Given the description of an element on the screen output the (x, y) to click on. 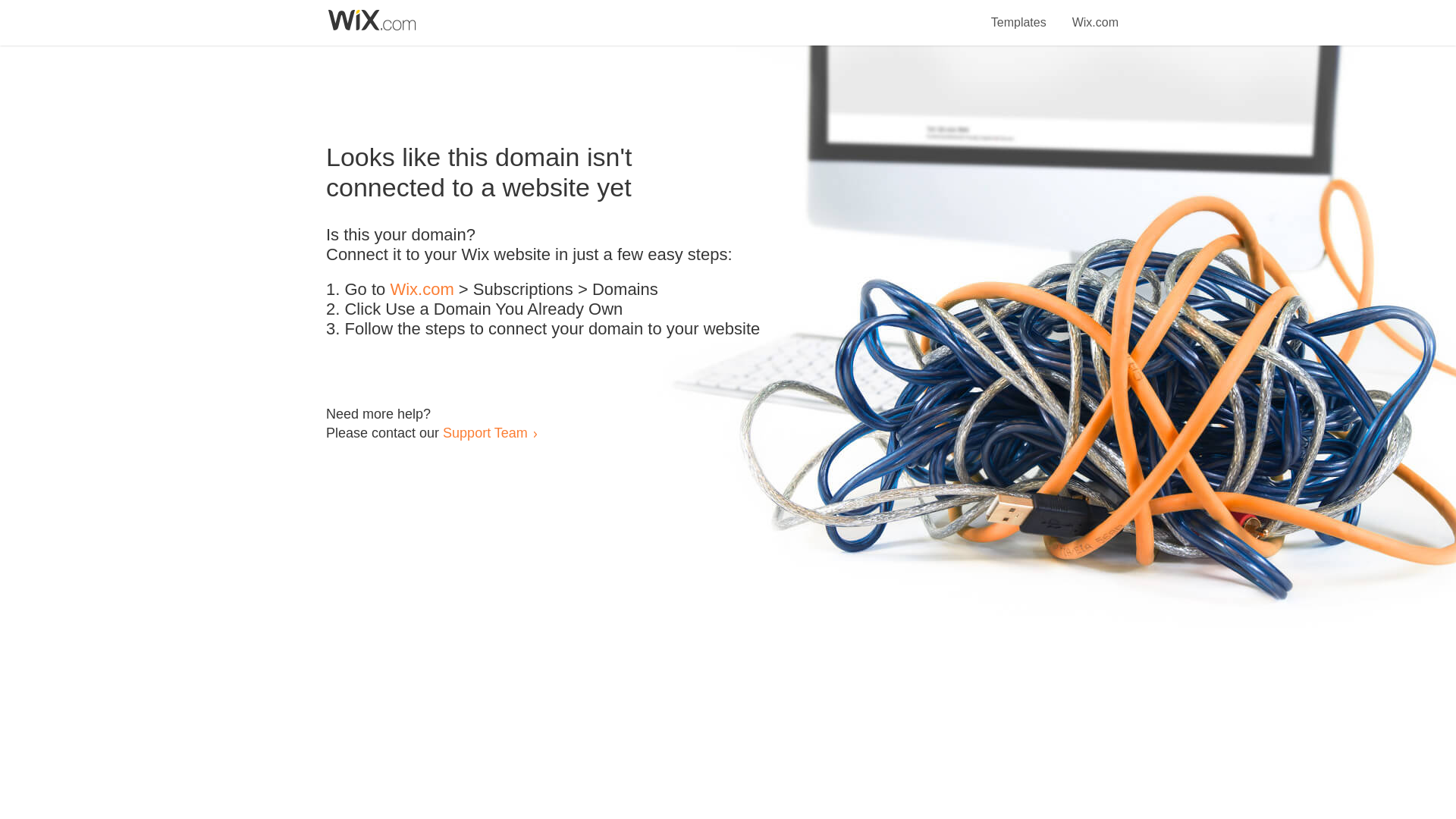
Wix.com (421, 289)
Wix.com (1095, 14)
Support Team (484, 432)
Templates (1018, 14)
